Given the description of an element on the screen output the (x, y) to click on. 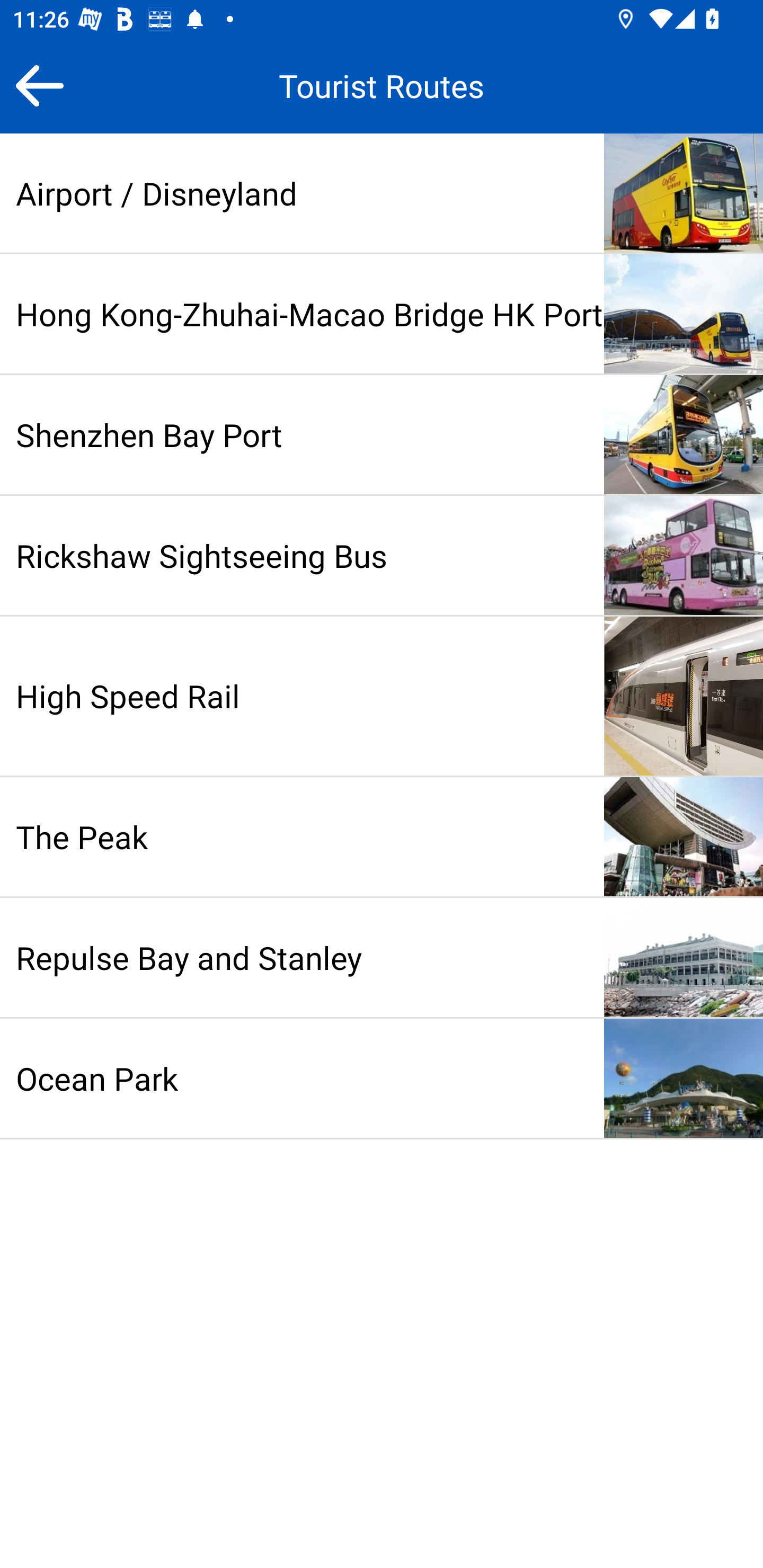
Back (39, 85)
Airport / Disneyland  (381, 192)
Hong Kong-Zhuhai-Macao Bridge HK Port (381, 313)
Shenzhen Bay Port (381, 433)
Rickshaw Sightseeing Bus (381, 554)
High Speed Rail (381, 696)
The Peak (381, 836)
Repulse Bay and Stanley (381, 957)
Ocean Park (381, 1078)
